Given the description of an element on the screen output the (x, y) to click on. 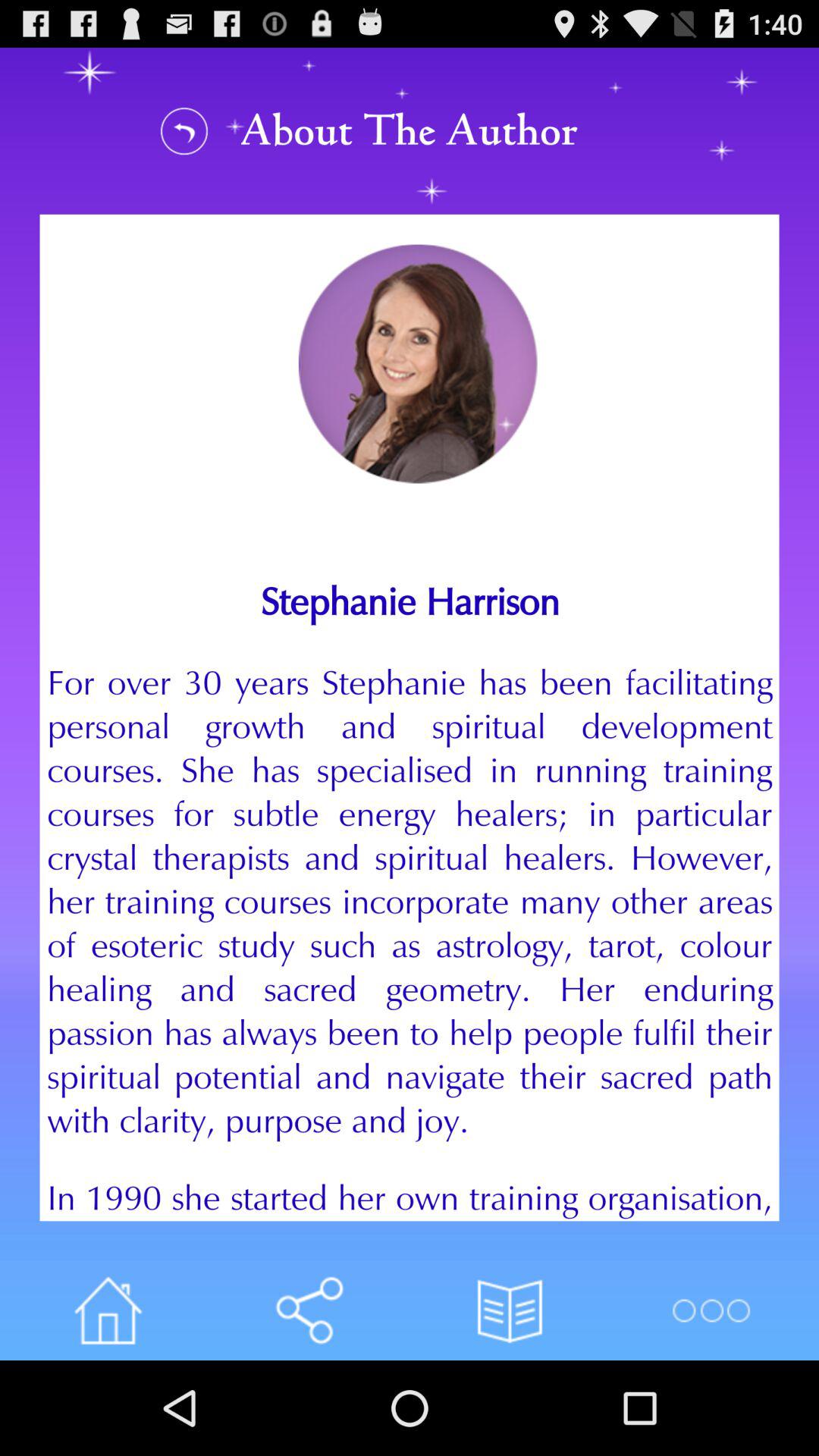
share this page (308, 1310)
